Given the description of an element on the screen output the (x, y) to click on. 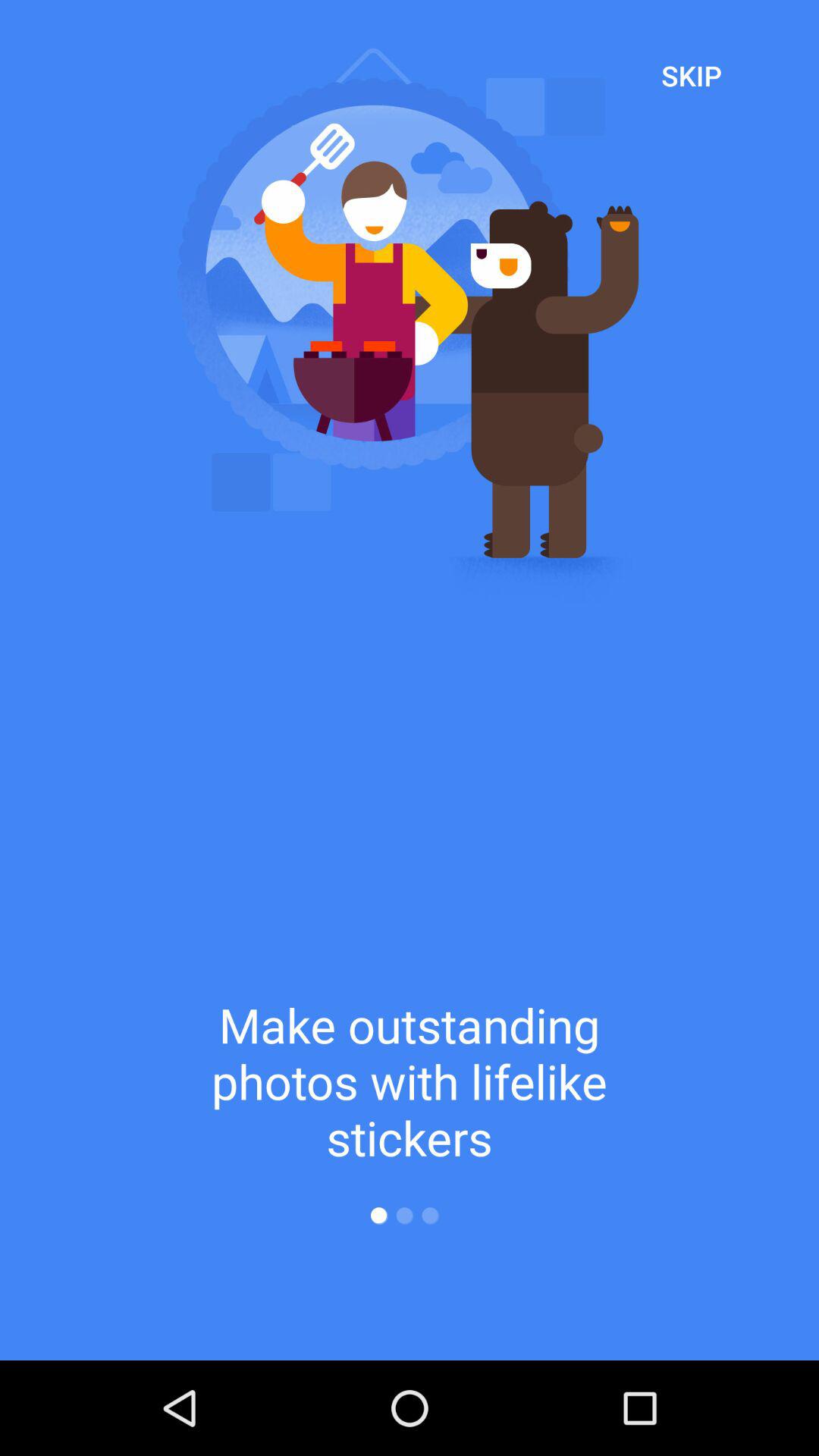
launch the skip icon (691, 75)
